Given the description of an element on the screen output the (x, y) to click on. 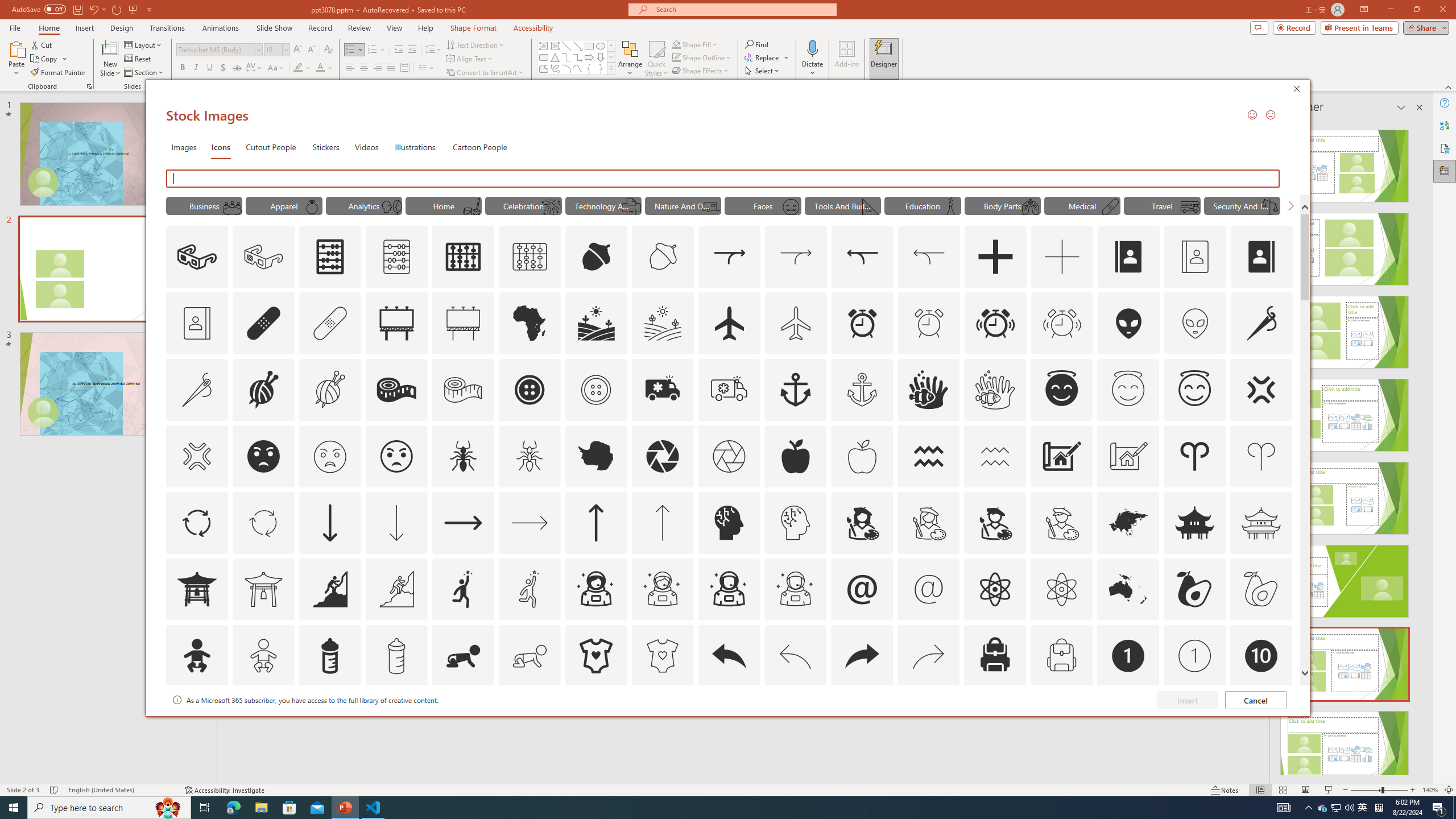
AutomationID: Icons_AngerSymbol (1260, 389)
AutomationID: Icons_MopAndBucket_M (471, 206)
AutomationID: Icons_Back_RTL_M (928, 655)
AutomationID: Icons_Ant (462, 455)
Connector: Elbow Arrow (577, 57)
AutomationID: Icons_ArrowUp (595, 522)
AutomationID: Icons_AlterationsTailoring (1261, 323)
Cutout People (271, 146)
Shape Outline Green, Accent 1 (675, 56)
"Faces" Icons. (762, 205)
